Given the description of an element on the screen output the (x, y) to click on. 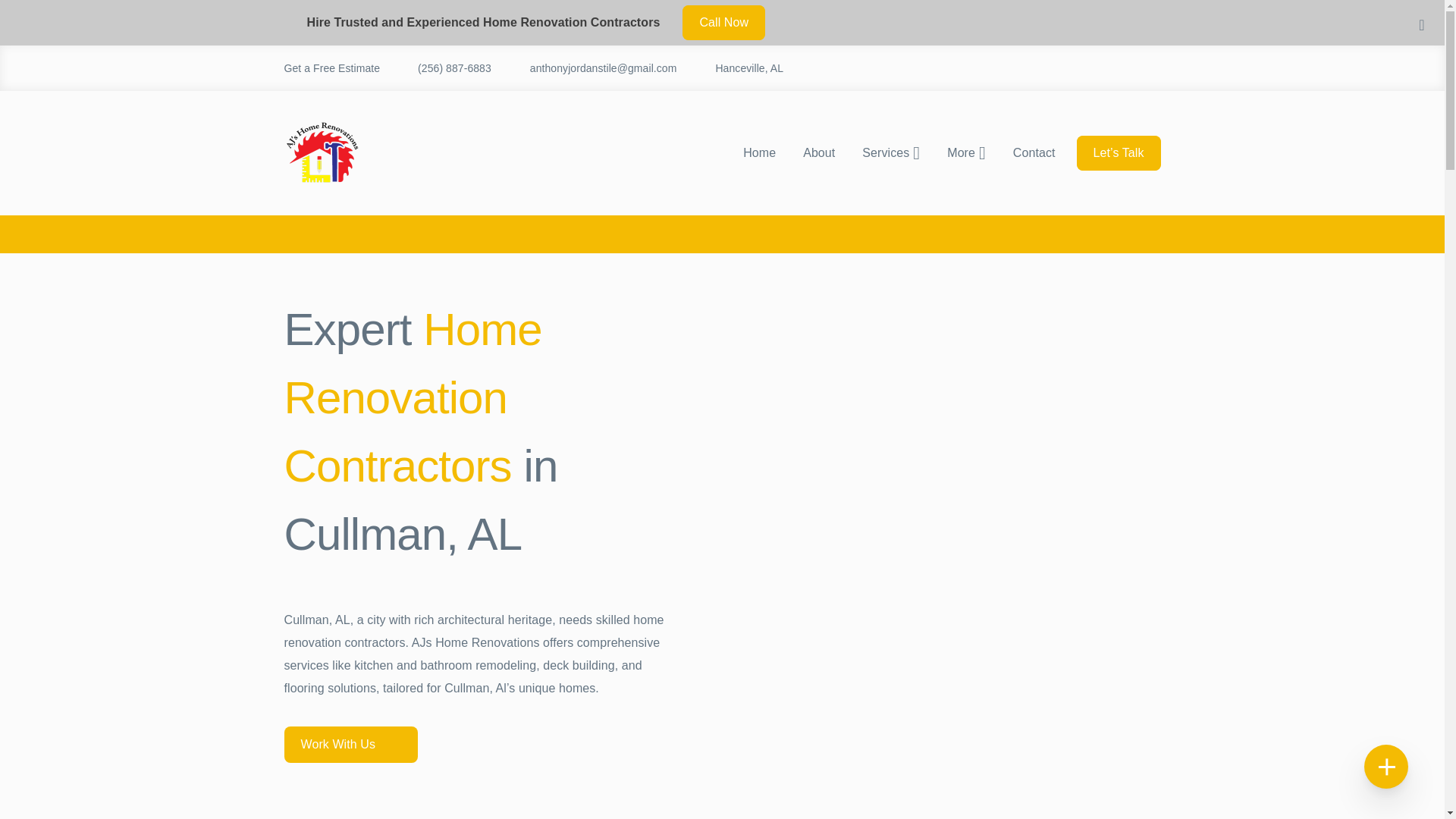
More (965, 152)
Home (759, 152)
About (818, 152)
Call Now (723, 22)
Hanceville, AL (738, 67)
Work With Us (349, 744)
Contact (1033, 152)
Start Renovating (721, 178)
Services (890, 152)
Home (298, 27)
